Given the description of an element on the screen output the (x, y) to click on. 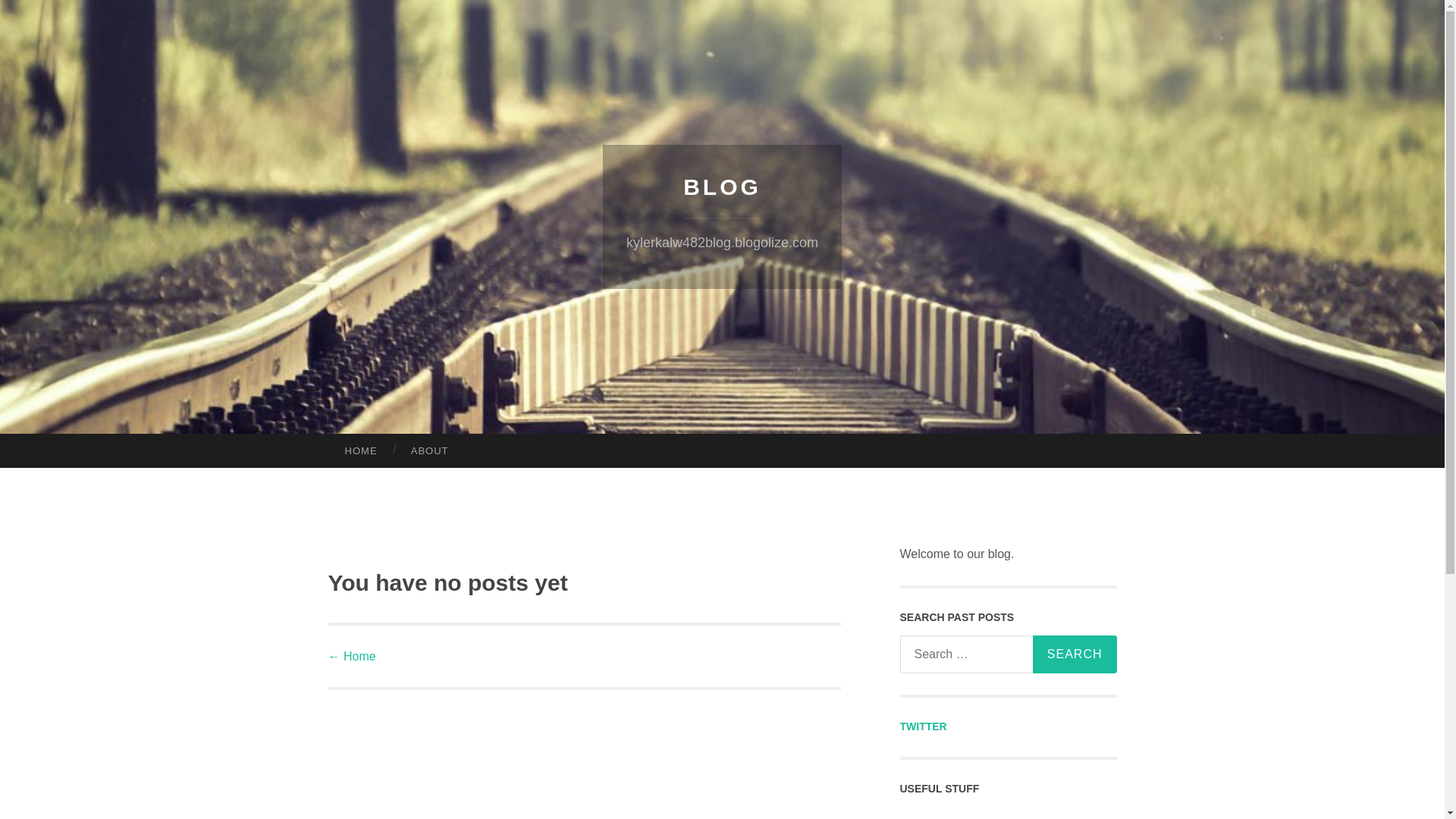
BLOG (721, 186)
Search (1074, 654)
TWITTER (922, 726)
Search (1074, 654)
SKIP TO CONTENT (66, 454)
ABOUT (429, 451)
HOME (360, 451)
Search (1074, 654)
Search for: (1006, 654)
